Given the description of an element on the screen output the (x, y) to click on. 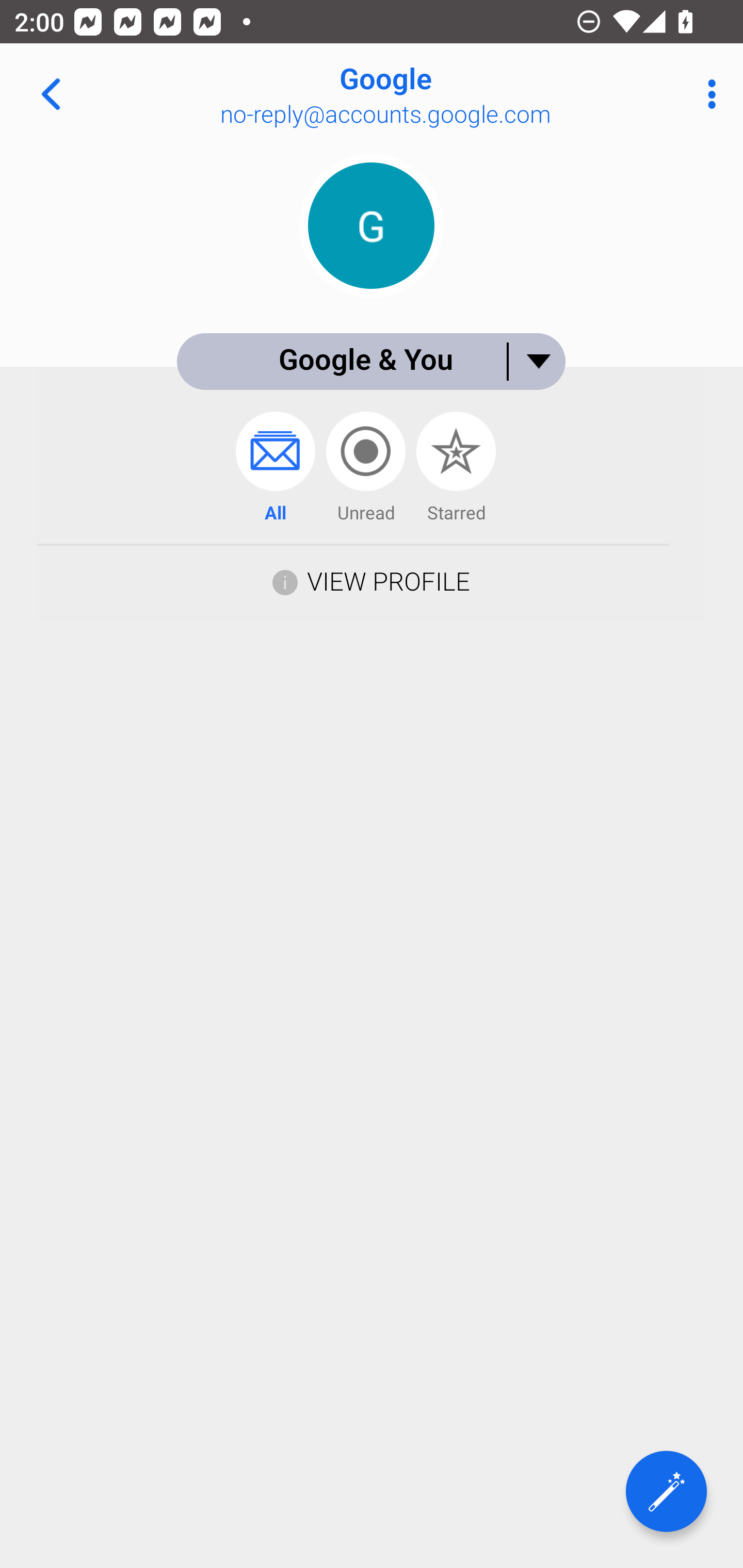
VIEW PROFILE (371, 580)
VIEW PROFILE (388, 580)
